Given the description of an element on the screen output the (x, y) to click on. 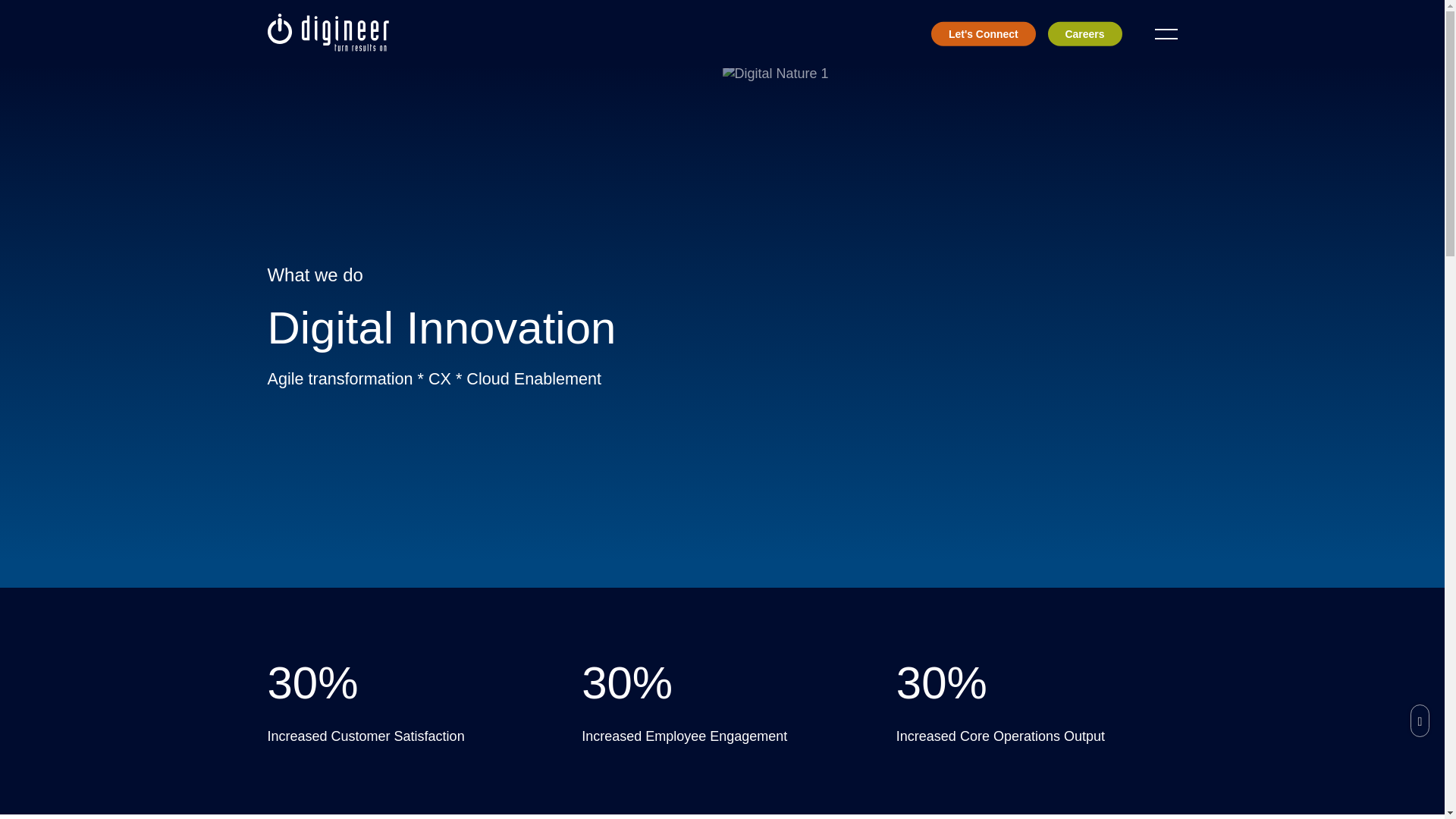
Careers (1085, 34)
digineer logo (327, 46)
Let's Connect (983, 34)
digineer logo (327, 32)
